Given the description of an element on the screen output the (x, y) to click on. 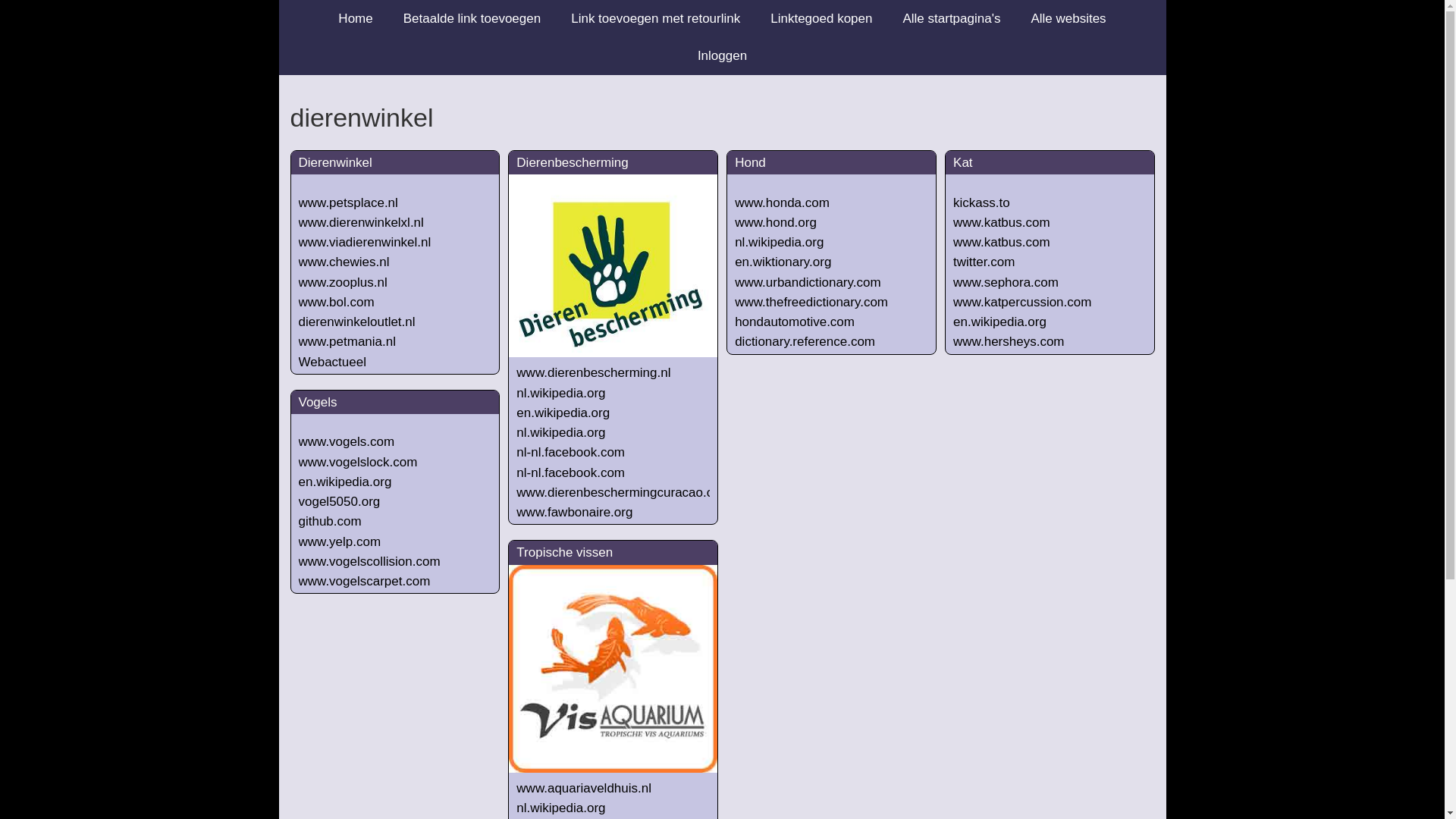
www.urbandictionary.com Element type: text (807, 282)
www.vogelscollision.com Element type: text (369, 561)
github.com Element type: text (329, 521)
www.katpercussion.com Element type: text (1022, 301)
www.bol.com Element type: text (336, 301)
dierenwinkel Element type: text (721, 117)
www.honda.com Element type: text (781, 202)
www.hersheys.com Element type: text (1008, 341)
www.petsplace.nl Element type: text (348, 202)
en.wikipedia.org Element type: text (562, 412)
www.vogels.com Element type: text (346, 441)
www.thefreedictionary.com Element type: text (811, 301)
nl-nl.facebook.com Element type: text (570, 472)
www.vogelscarpet.com Element type: text (364, 581)
www.fawbonaire.org Element type: text (574, 512)
kickass.to Element type: text (981, 202)
www.viadierenwinkel.nl Element type: text (364, 242)
twitter.com Element type: text (983, 261)
www.aquariaveldhuis.nl Element type: text (583, 788)
hondautomotive.com Element type: text (794, 321)
www.chewies.nl Element type: text (343, 261)
dictionary.reference.com Element type: text (804, 341)
vogel5050.org Element type: text (339, 501)
www.zooplus.nl Element type: text (342, 282)
Link toevoegen met retourlink Element type: text (655, 18)
Webactueel Element type: text (332, 361)
nl.wikipedia.org Element type: text (778, 242)
Linktegoed kopen Element type: text (821, 18)
www.dierenwinkelxl.nl Element type: text (360, 222)
Betaalde link toevoegen Element type: text (471, 18)
www.dierenbescherming.nl Element type: text (593, 372)
en.wiktionary.org Element type: text (782, 261)
Inloggen Element type: text (722, 55)
www.petmania.nl Element type: text (347, 341)
Home Element type: text (355, 18)
nl.wikipedia.org Element type: text (560, 392)
www.vogelslock.com Element type: text (357, 462)
www.katbus.com Element type: text (1001, 242)
en.wikipedia.org Element type: text (345, 481)
Alle websites Element type: text (1067, 18)
Alle startpagina's Element type: text (951, 18)
www.sephora.com Element type: text (1005, 282)
www.yelp.com Element type: text (339, 541)
nl.wikipedia.org Element type: text (560, 432)
nl.wikipedia.org Element type: text (560, 807)
dierenwinkeloutlet.nl Element type: text (356, 321)
www.katbus.com Element type: text (1001, 222)
www.hond.org Element type: text (775, 222)
en.wikipedia.org Element type: text (999, 321)
nl-nl.facebook.com Element type: text (570, 452)
www.dierenbeschermingcuracao.com Element type: text (623, 492)
